Given the description of an element on the screen output the (x, y) to click on. 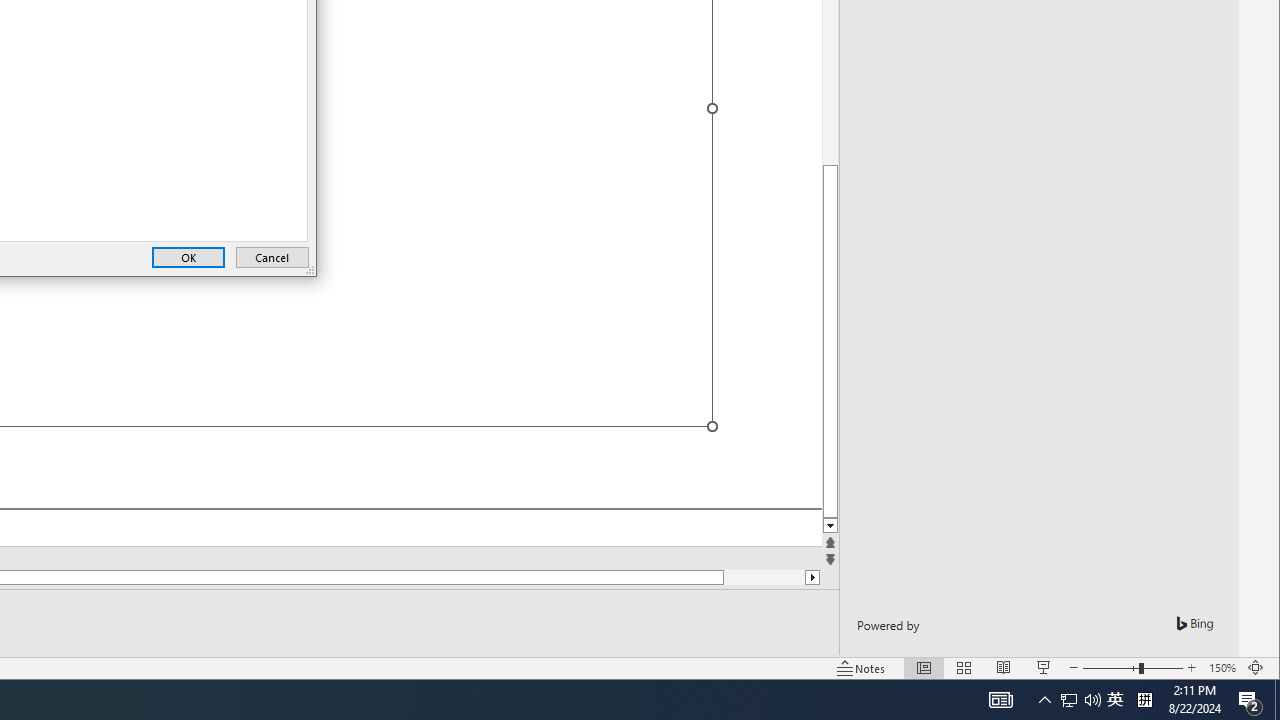
Zoom 150% (1222, 668)
